Given the description of an element on the screen output the (x, y) to click on. 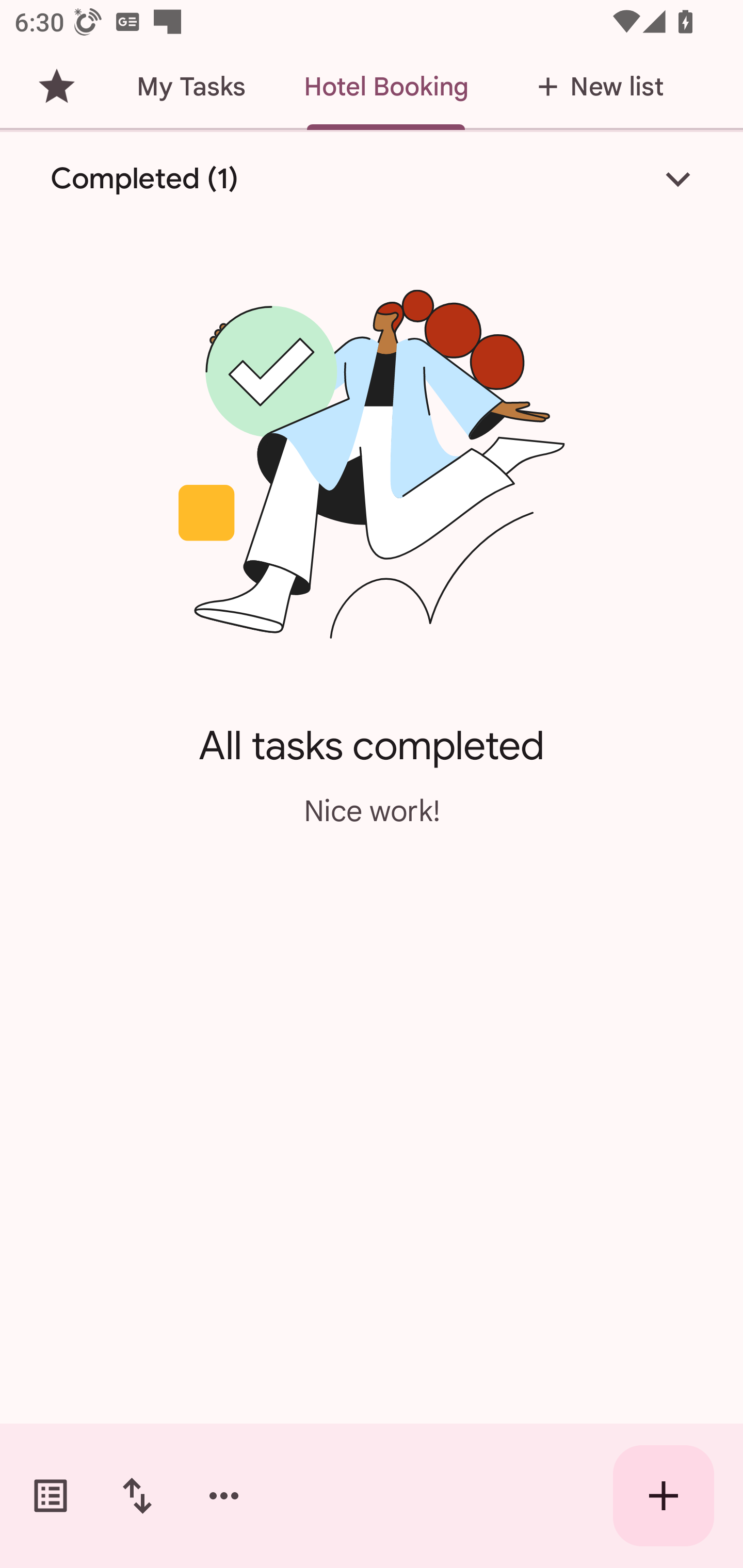
Starred (55, 86)
My Tasks (190, 86)
New list (594, 86)
Completed (1) (371, 178)
Switch task lists (50, 1495)
Create new task (663, 1495)
Change sort order (136, 1495)
More options (223, 1495)
